Given the description of an element on the screen output the (x, y) to click on. 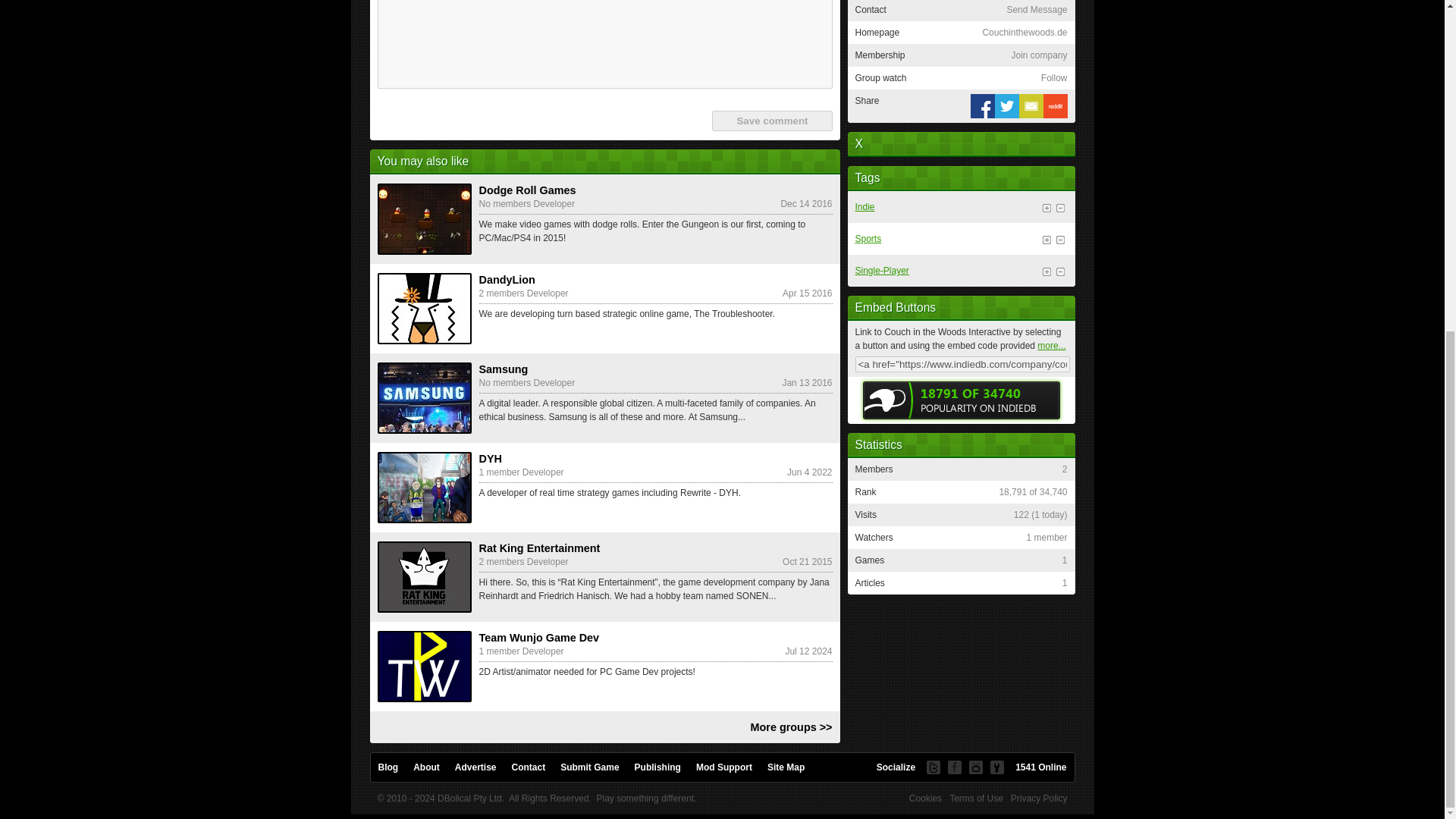
Save comment (771, 120)
DandyLion (424, 307)
DYH (424, 487)
Samsung (424, 398)
Dodge Roll Games (424, 218)
